Given the description of an element on the screen output the (x, y) to click on. 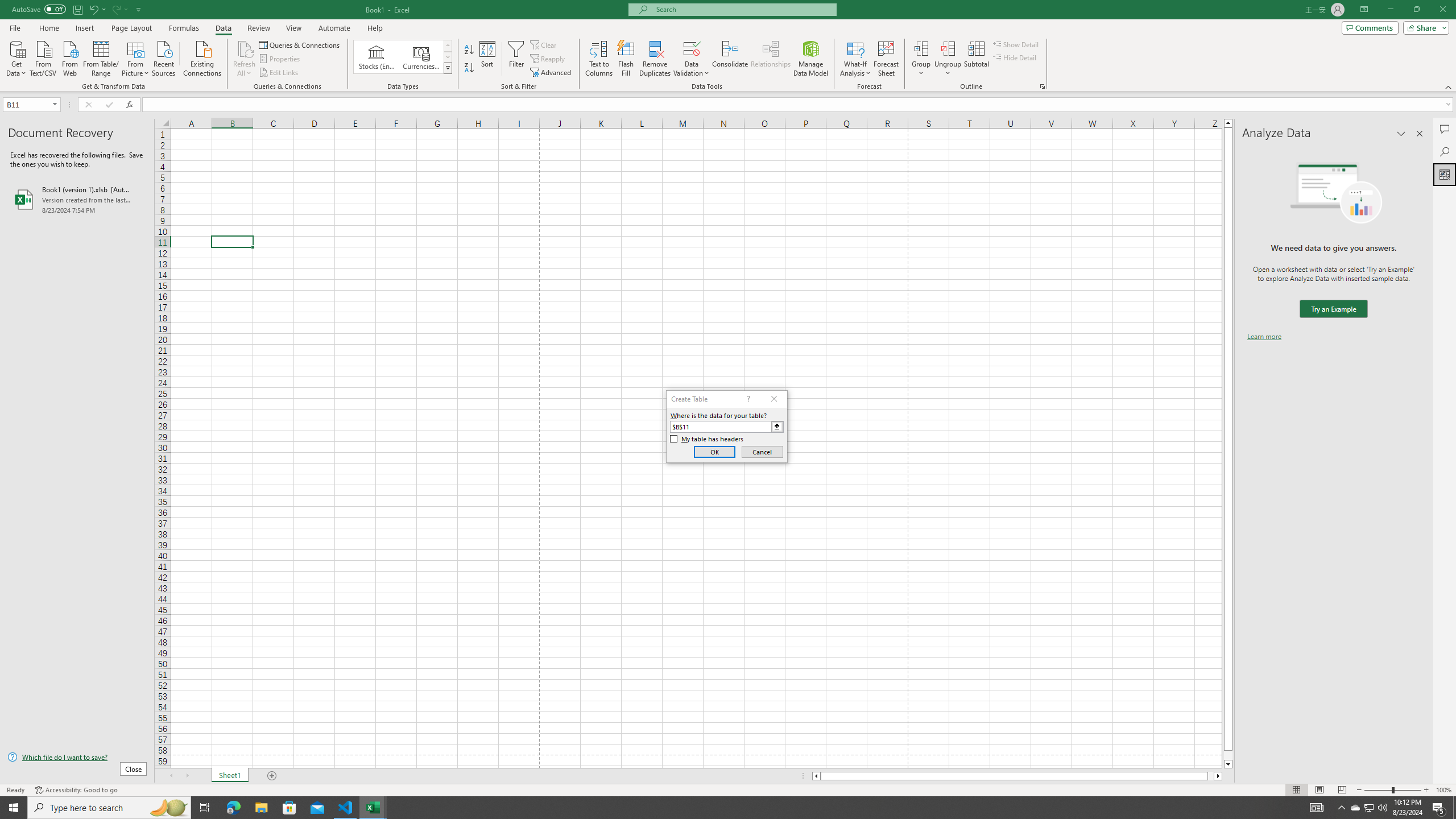
Relationships (770, 58)
Filter (515, 58)
